Given the description of an element on the screen output the (x, y) to click on. 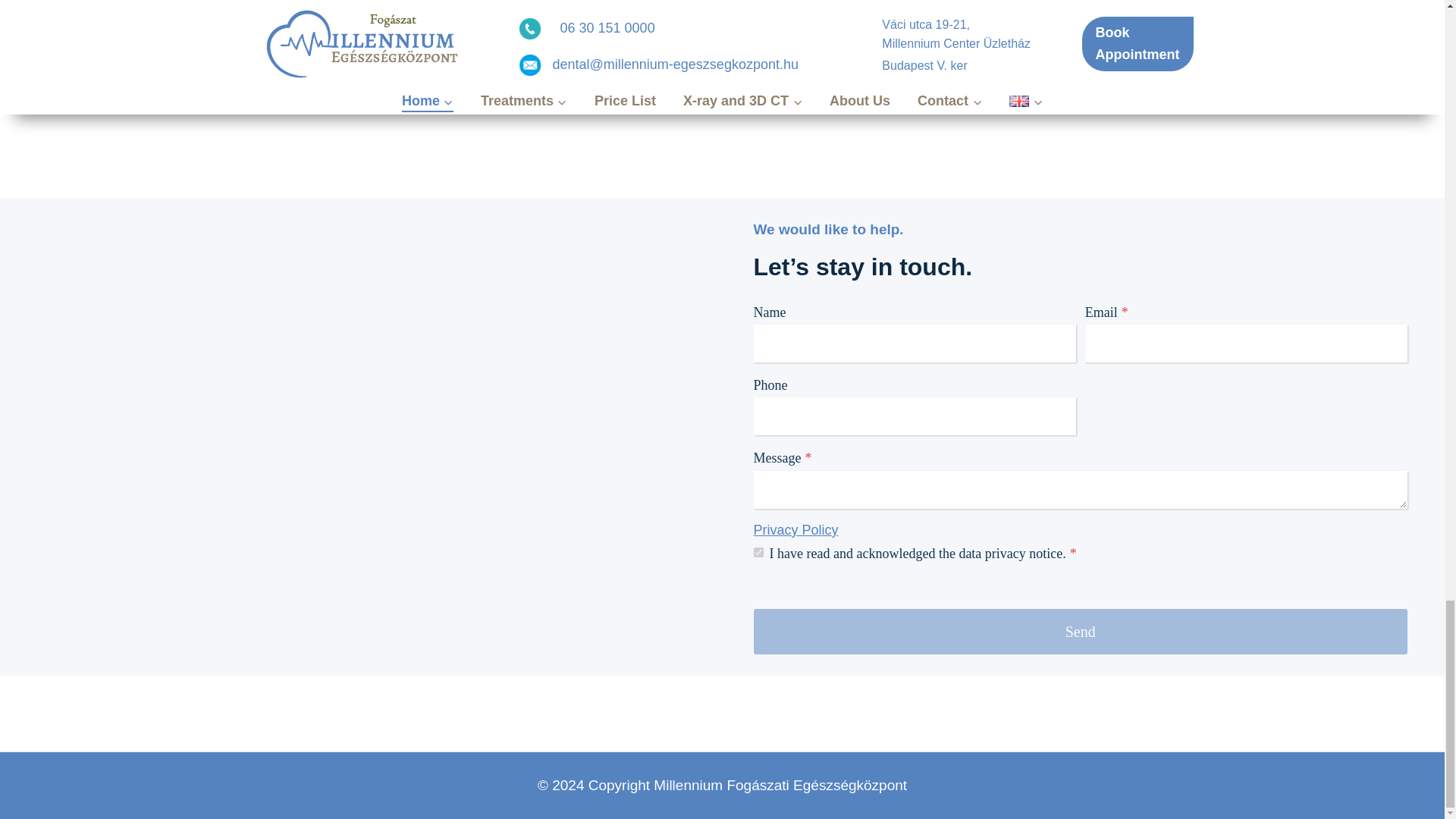
accept (758, 552)
